Given the description of an element on the screen output the (x, y) to click on. 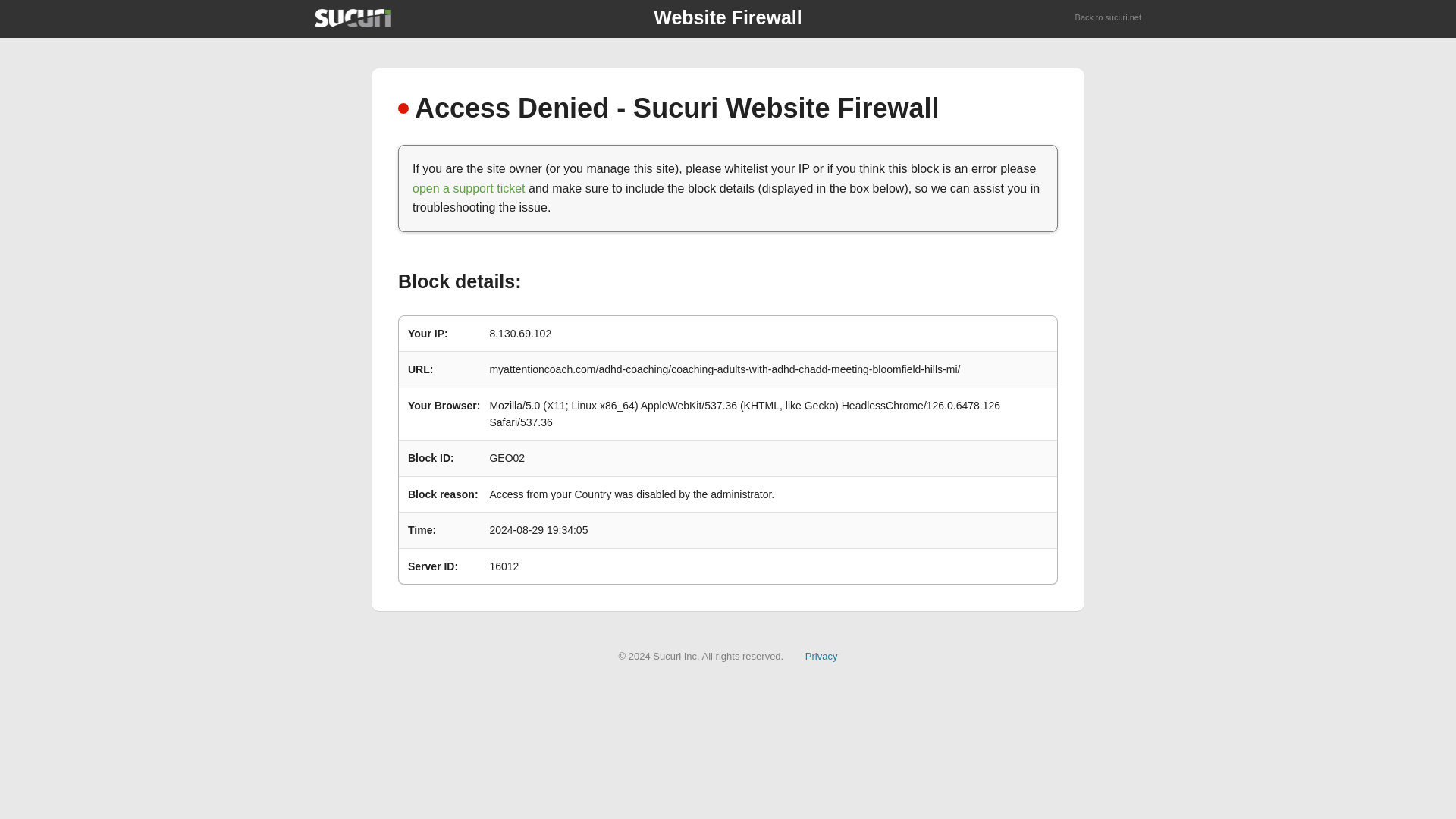
open a support ticket (468, 187)
Back to sucuri.net (1108, 18)
Privacy (821, 655)
